Given the description of an element on the screen output the (x, y) to click on. 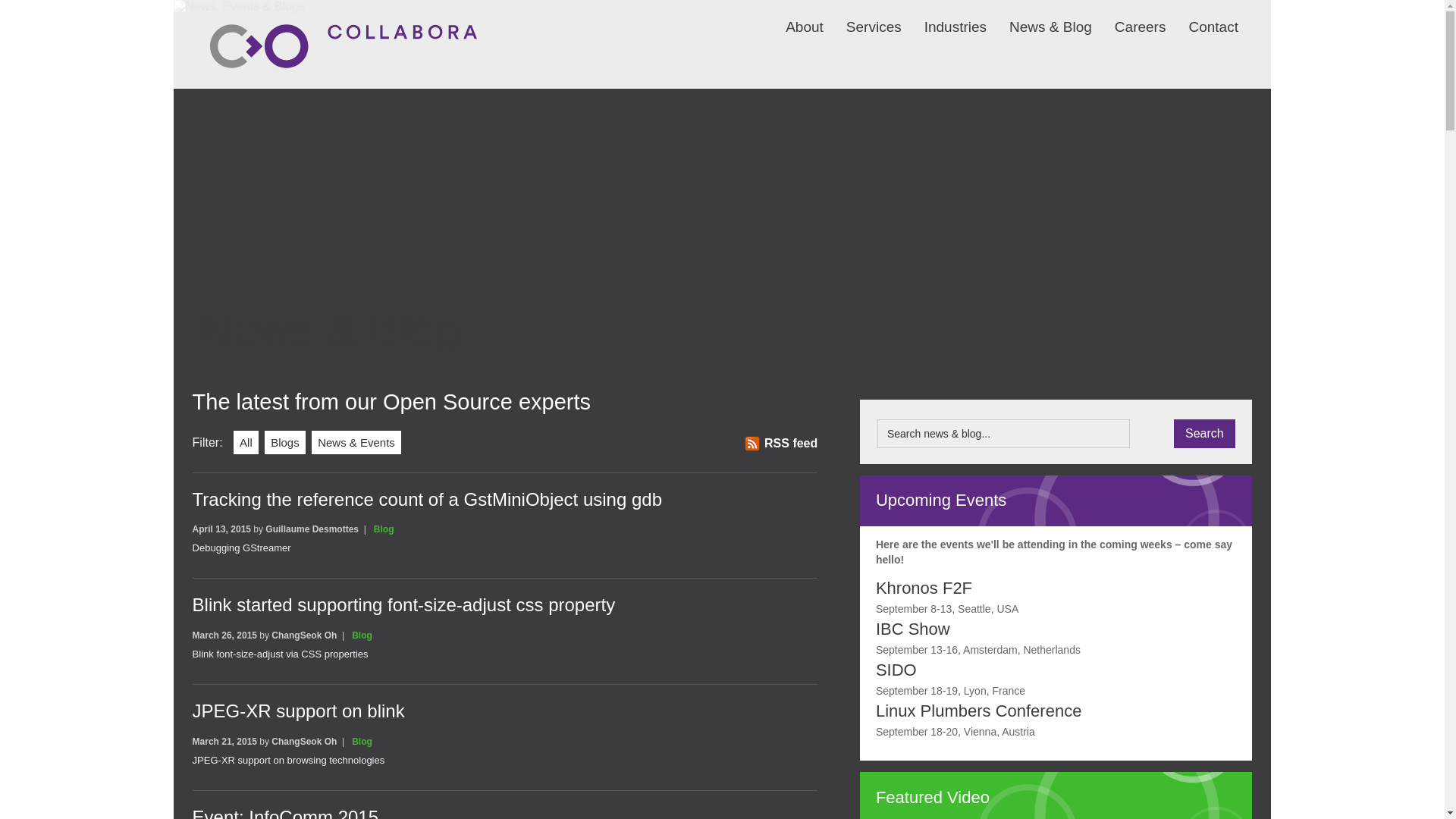
Search (1203, 433)
Careers (1129, 17)
RSS feed (780, 442)
About (793, 17)
Navigate to the Industries page (944, 17)
Blogs (284, 442)
Contact (1201, 17)
Industries (944, 17)
Tracking the reference count of a GstMiniObject using gdb (427, 498)
Navigate to the About page (793, 17)
